Given the description of an element on the screen output the (x, y) to click on. 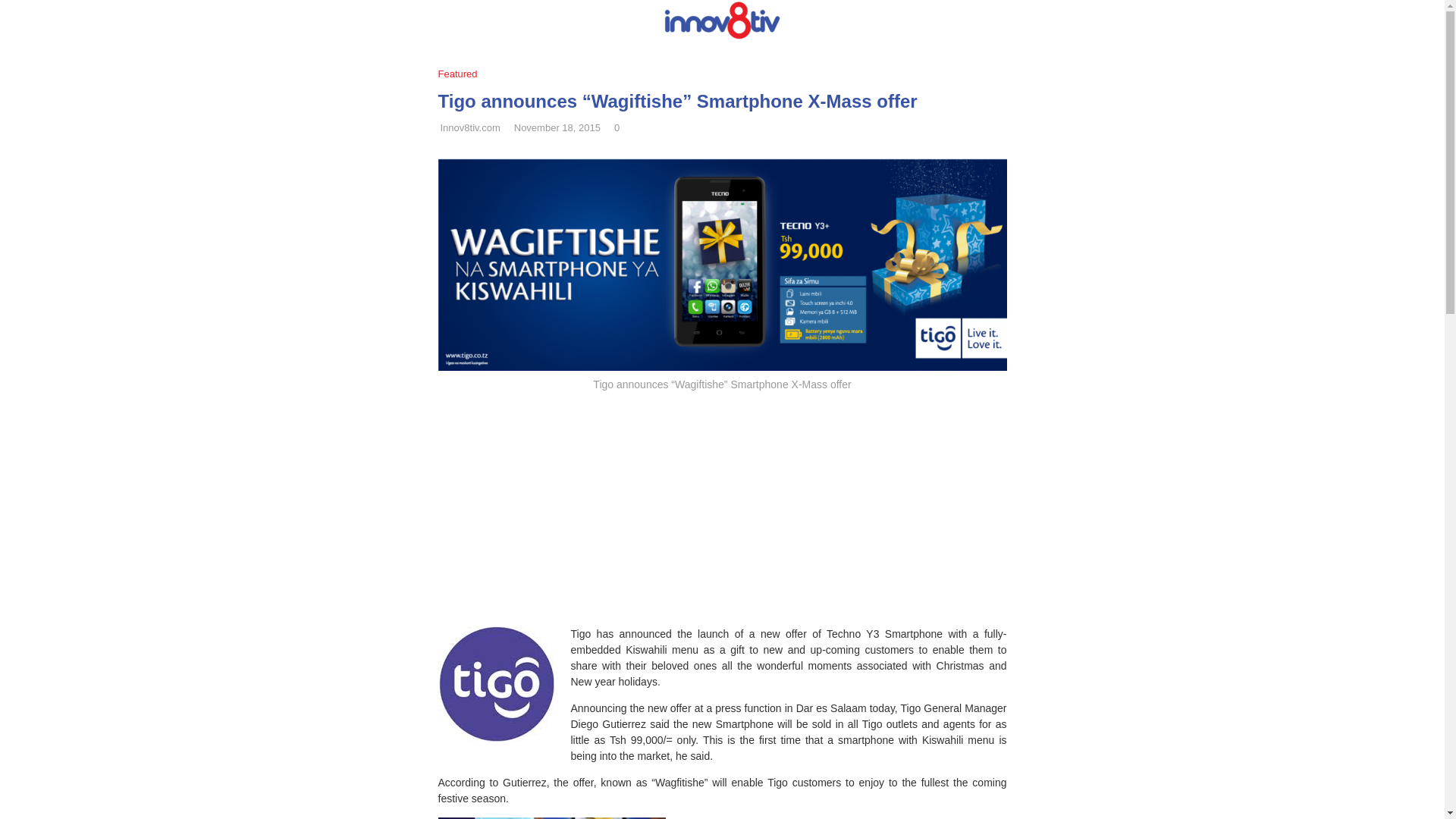
November 18, 2015 (556, 127)
3rd party ad content (721, 503)
Featured (461, 73)
